Given the description of an element on the screen output the (x, y) to click on. 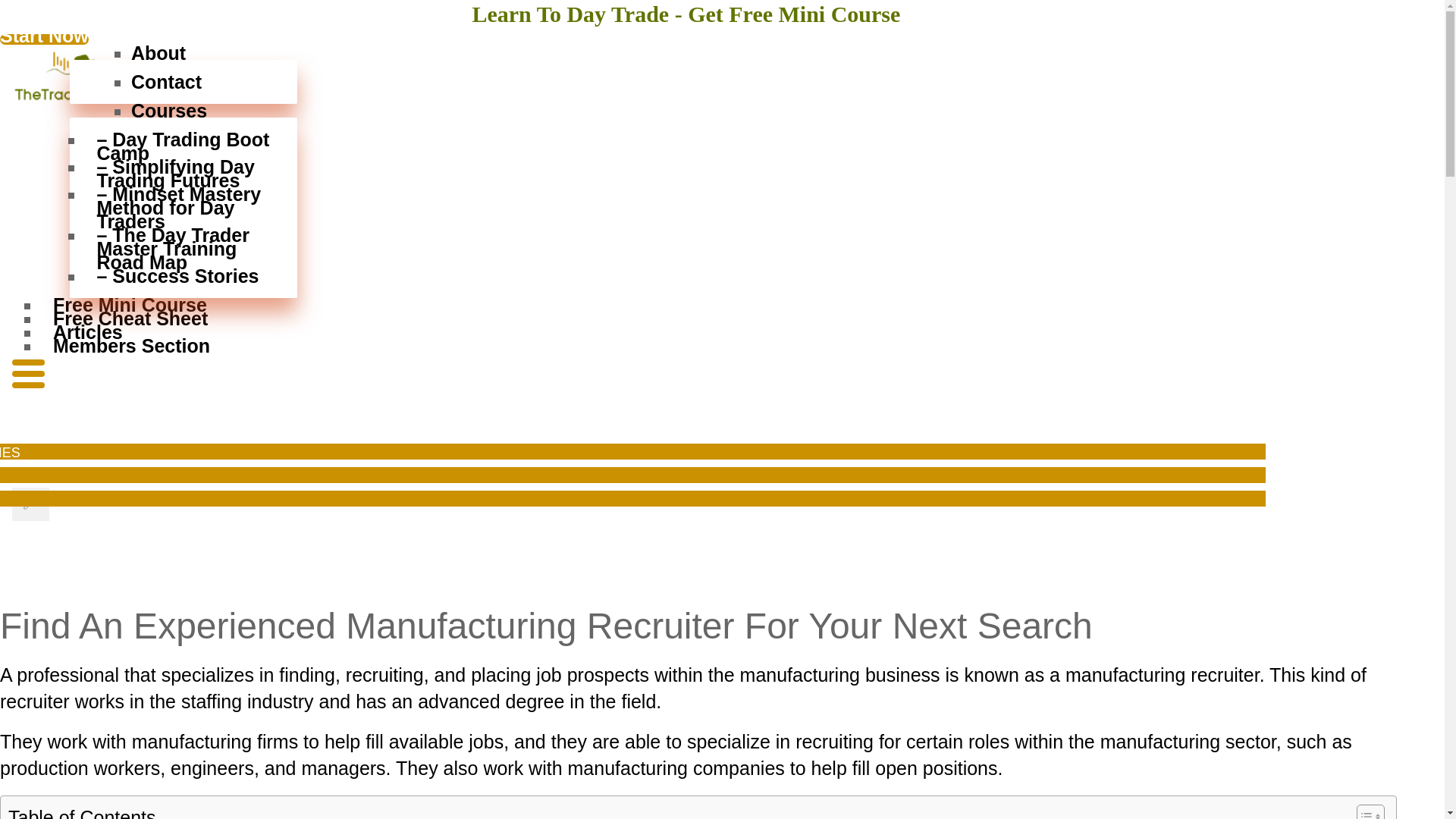
Start Now (44, 39)
Contact (190, 81)
